Given the description of an element on the screen output the (x, y) to click on. 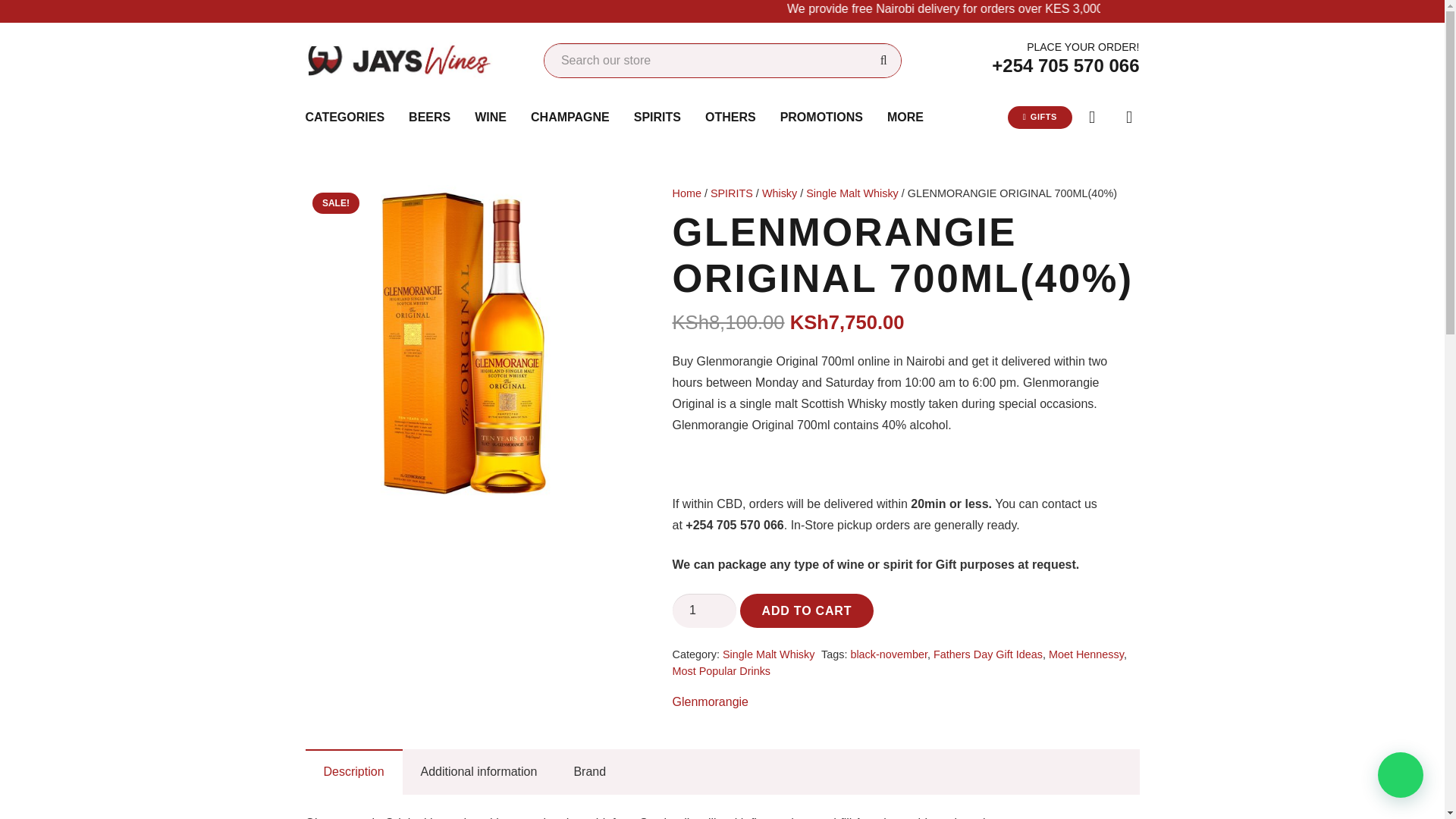
View brand (709, 701)
1 (703, 610)
Buy Glenmorangie Original 700ml online in Nairobi (462, 343)
CATEGORIES (344, 117)
BEERS (429, 117)
WINE (490, 117)
